Given the description of an element on the screen output the (x, y) to click on. 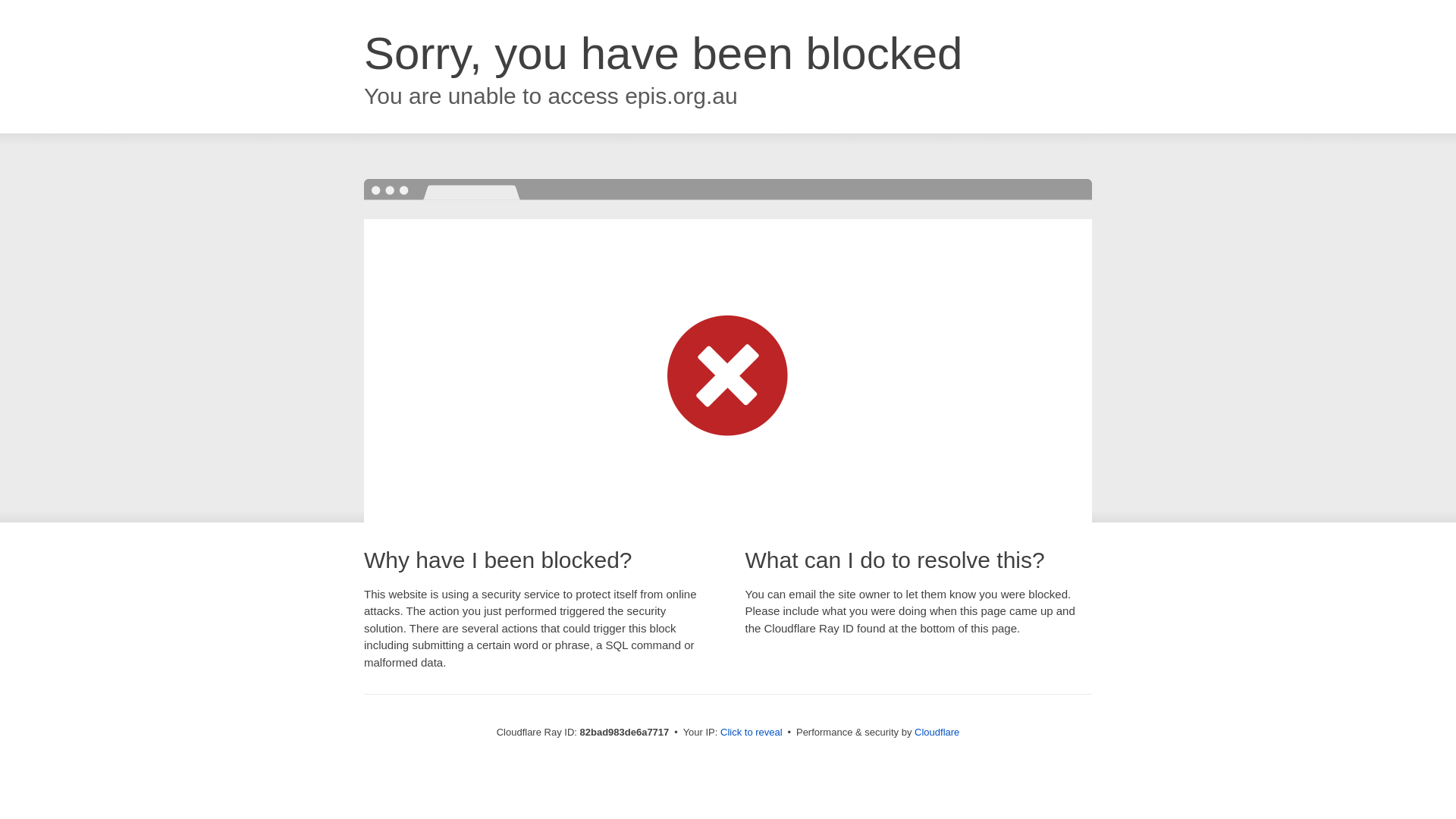
Cloudflare Element type: text (936, 731)
Click to reveal Element type: text (751, 732)
